Given the description of an element on the screen output the (x, y) to click on. 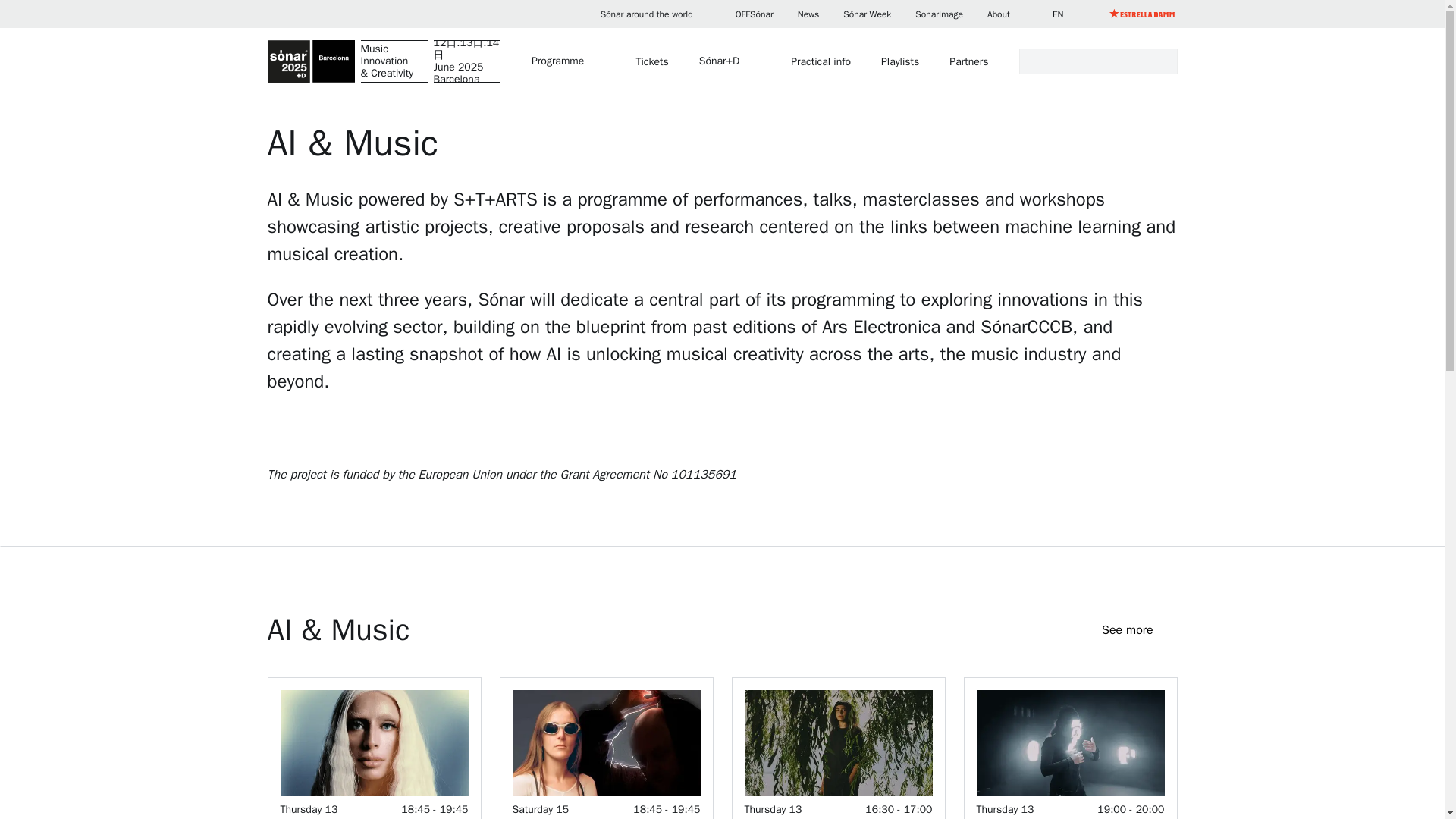
Playlists (899, 60)
Practical info (820, 60)
Partners (968, 60)
Tickets (651, 60)
See more (1139, 629)
News (808, 13)
About (1007, 14)
EN (1066, 14)
SonarImage (373, 748)
